Given the description of an element on the screen output the (x, y) to click on. 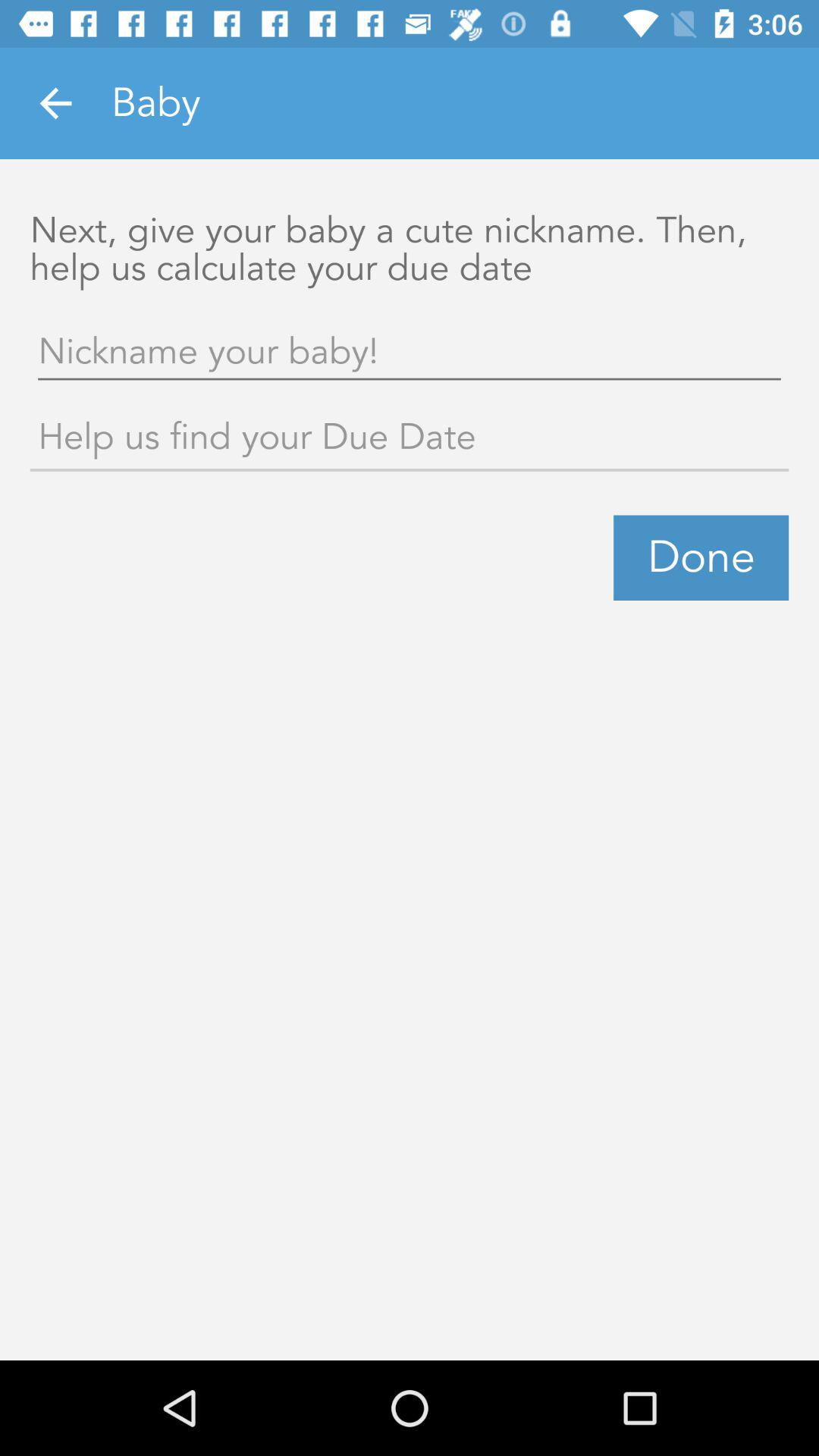
select item above the done (409, 440)
